Given the description of an element on the screen output the (x, y) to click on. 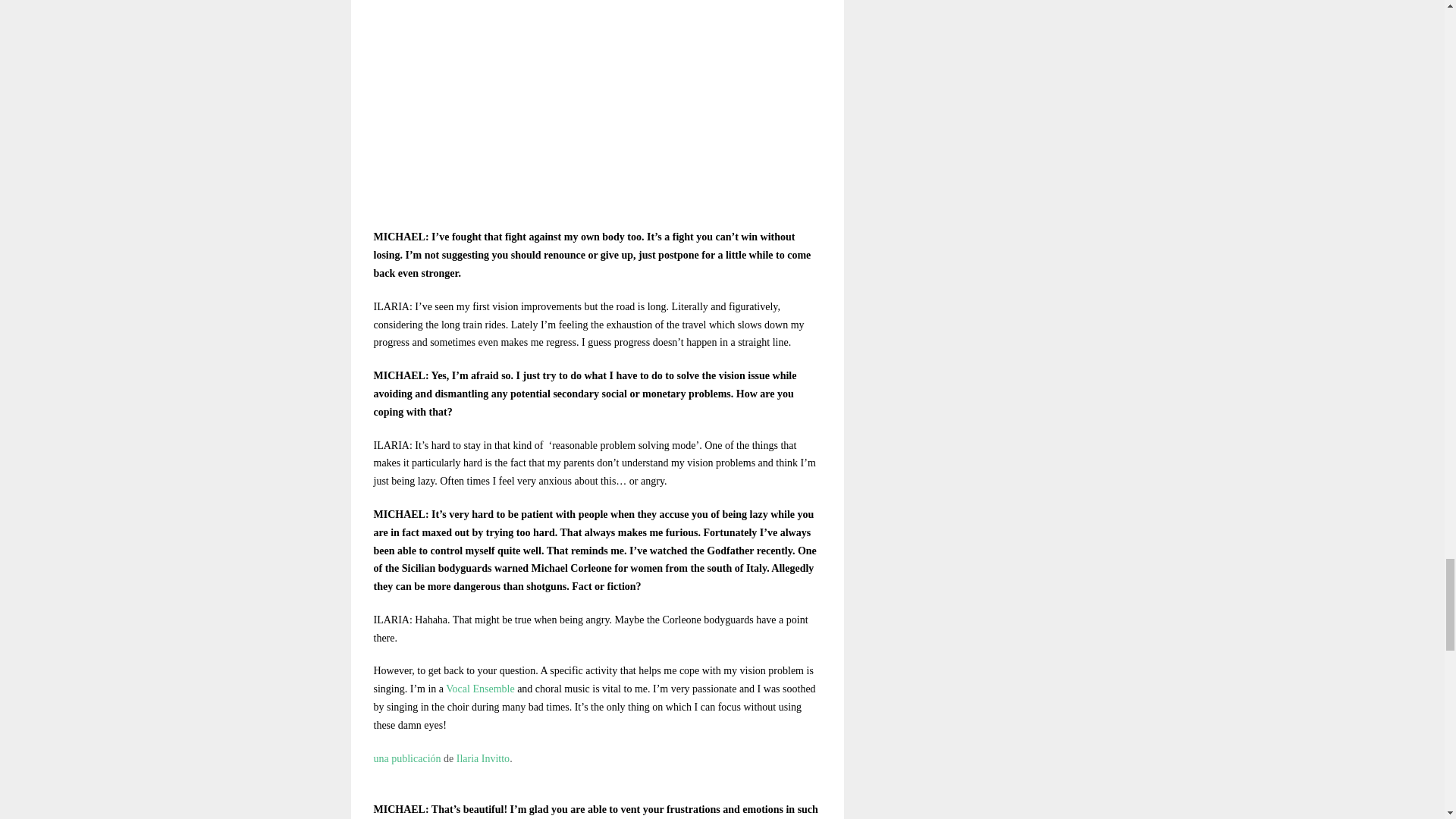
Ilaria Invitto (483, 758)
Vocal Ensemble (479, 688)
